Given the description of an element on the screen output the (x, y) to click on. 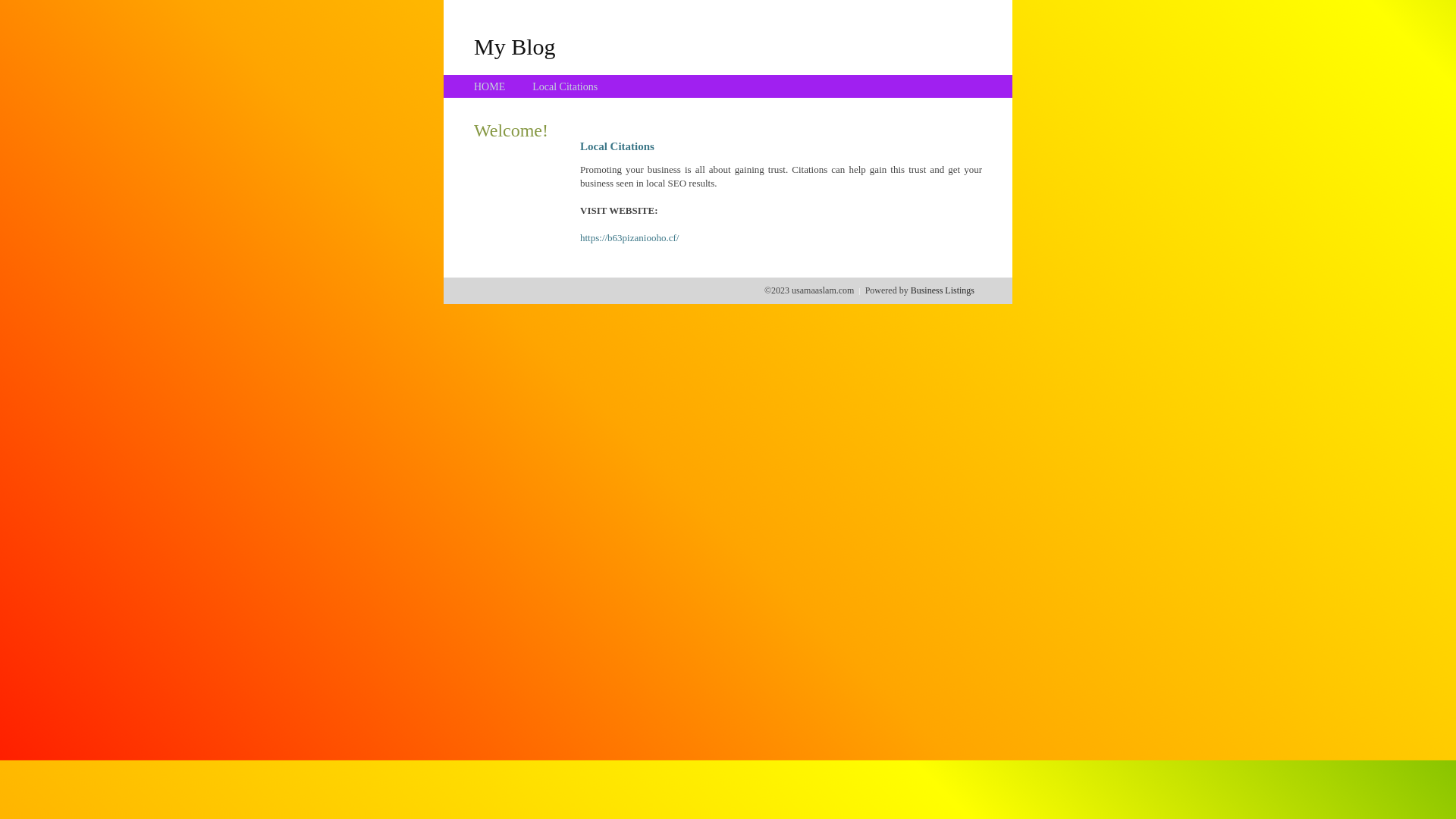
Business Listings Element type: text (942, 290)
Local Citations Element type: text (564, 86)
https://b63pizaniooho.cf/ Element type: text (629, 237)
My Blog Element type: text (514, 46)
HOME Element type: text (489, 86)
